Given the description of an element on the screen output the (x, y) to click on. 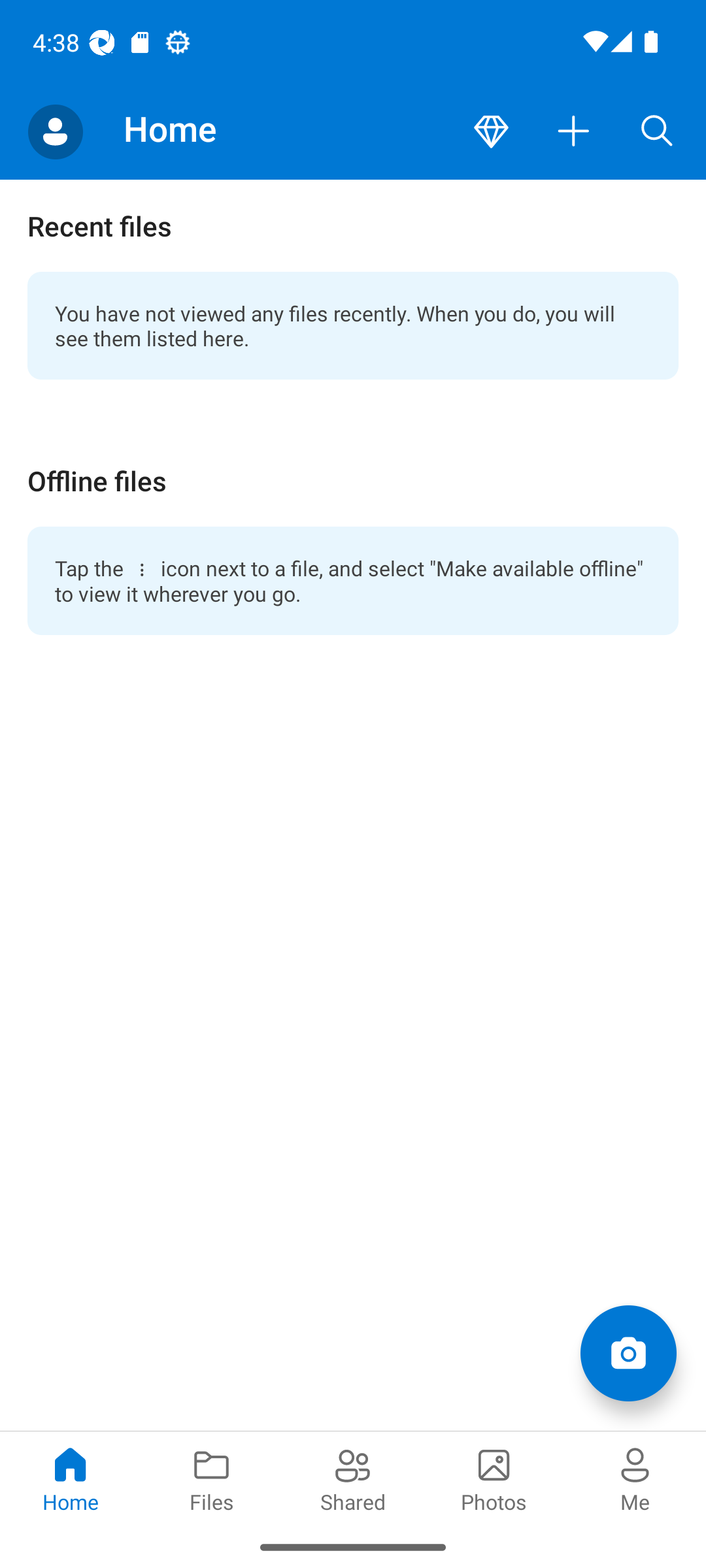
Account switcher (55, 131)
Premium button (491, 131)
More actions button (574, 131)
Search button (656, 131)
Scan (628, 1352)
Files pivot Files (211, 1478)
Shared pivot Shared (352, 1478)
Photos pivot Photos (493, 1478)
Me pivot Me (635, 1478)
